Given the description of an element on the screen output the (x, y) to click on. 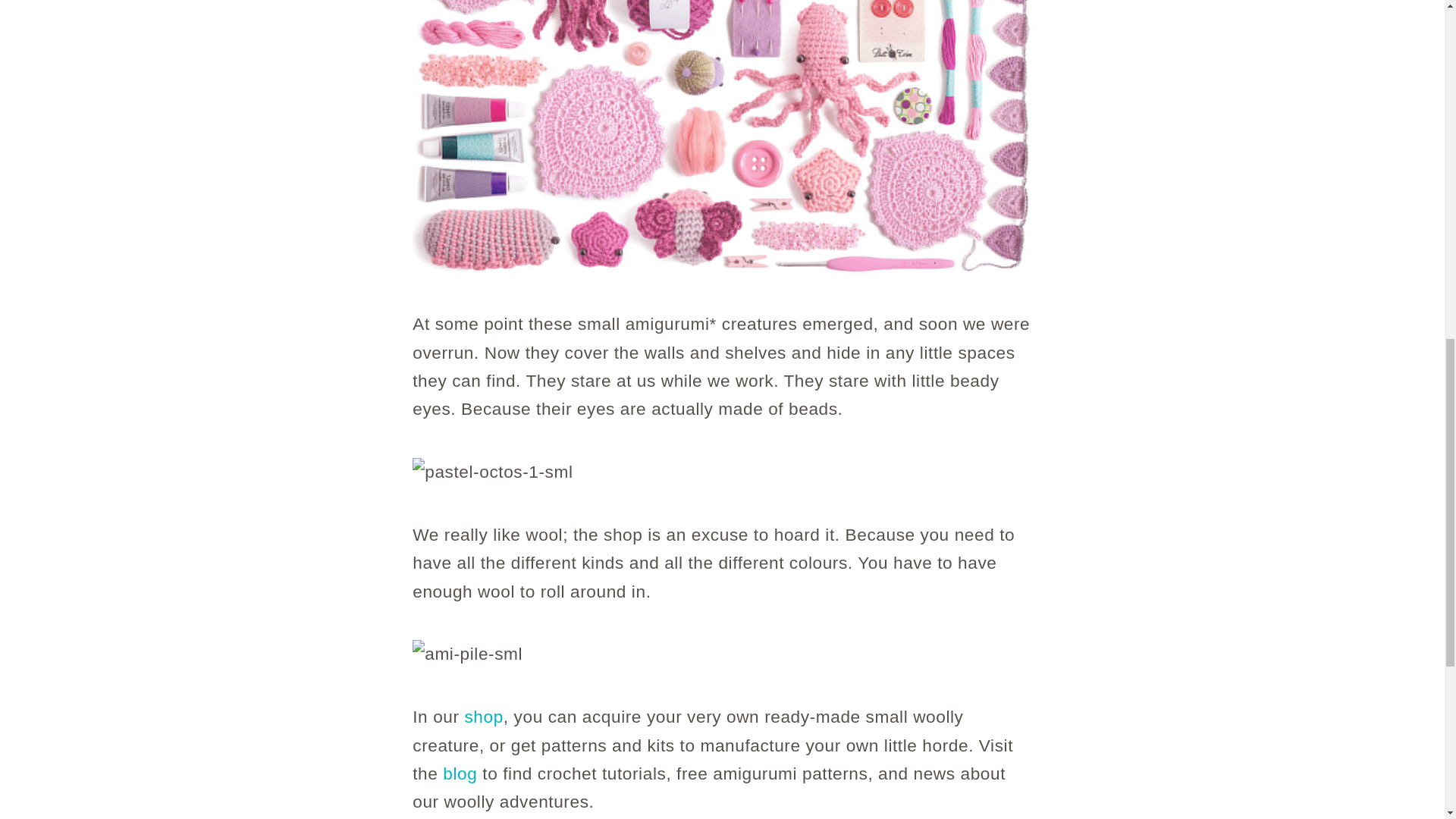
blog (459, 772)
shop (483, 716)
